Given the description of an element on the screen output the (x, y) to click on. 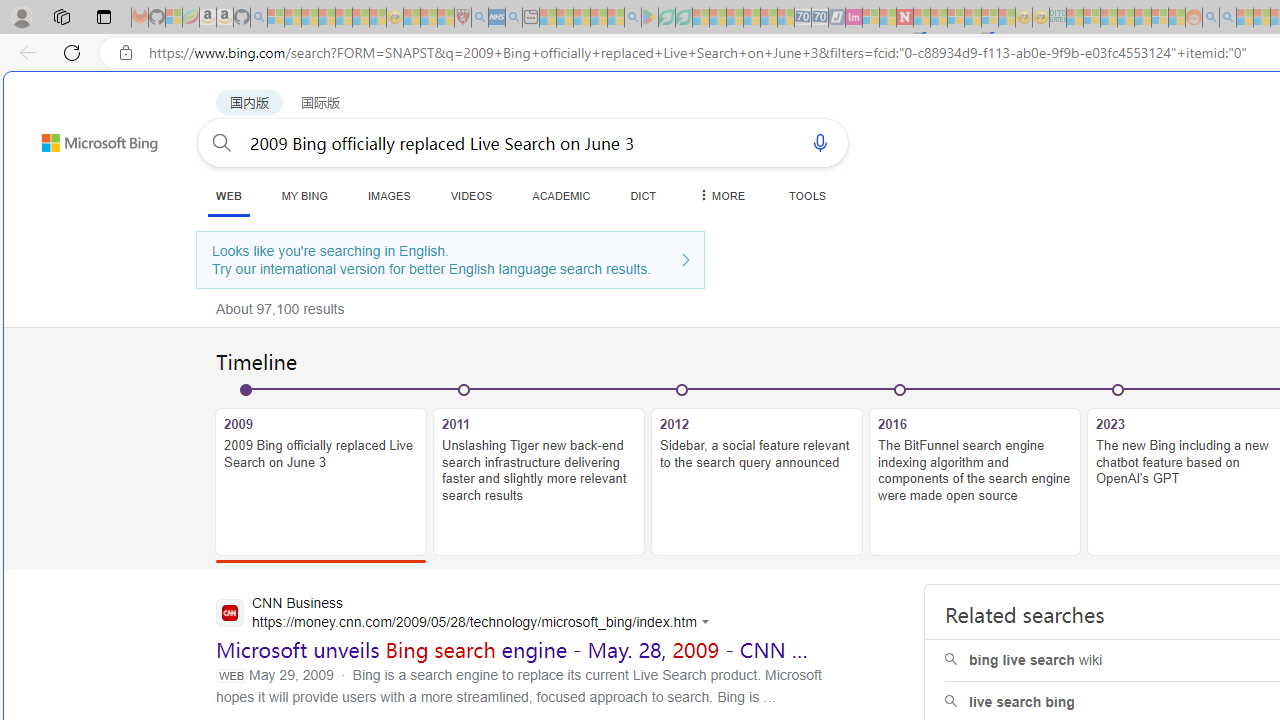
Back to Bing search (87, 138)
DICT (643, 195)
Jobs - lastminute.com Investor Portal - Sleeping (853, 17)
The Weather Channel - MSN - Sleeping (309, 17)
DICT (643, 195)
Search button (221, 142)
Actions for this site (707, 622)
Kinda Frugal - MSN - Sleeping (1142, 17)
